Given the description of an element on the screen output the (x, y) to click on. 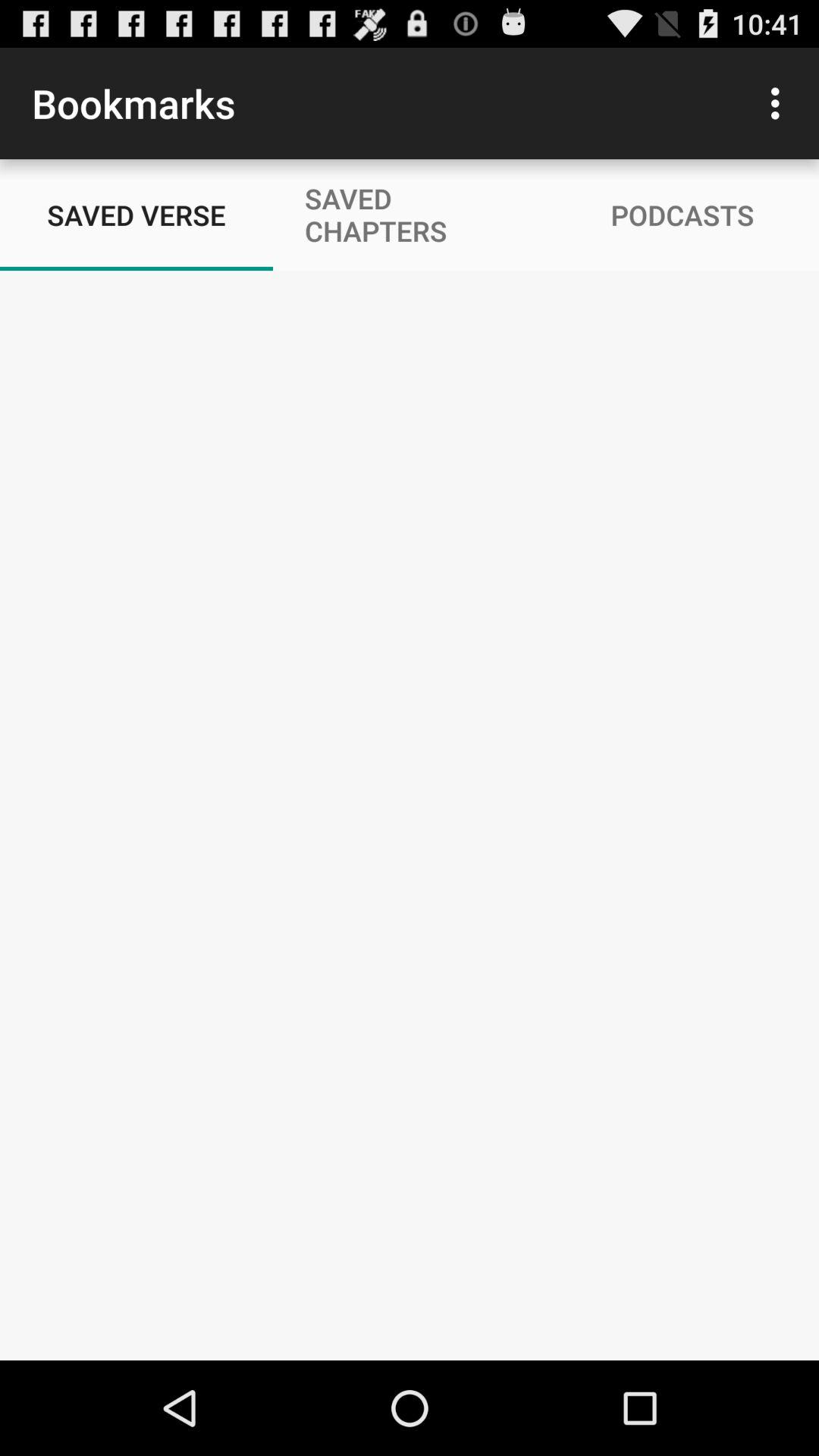
saved verse page (409, 815)
